Given the description of an element on the screen output the (x, y) to click on. 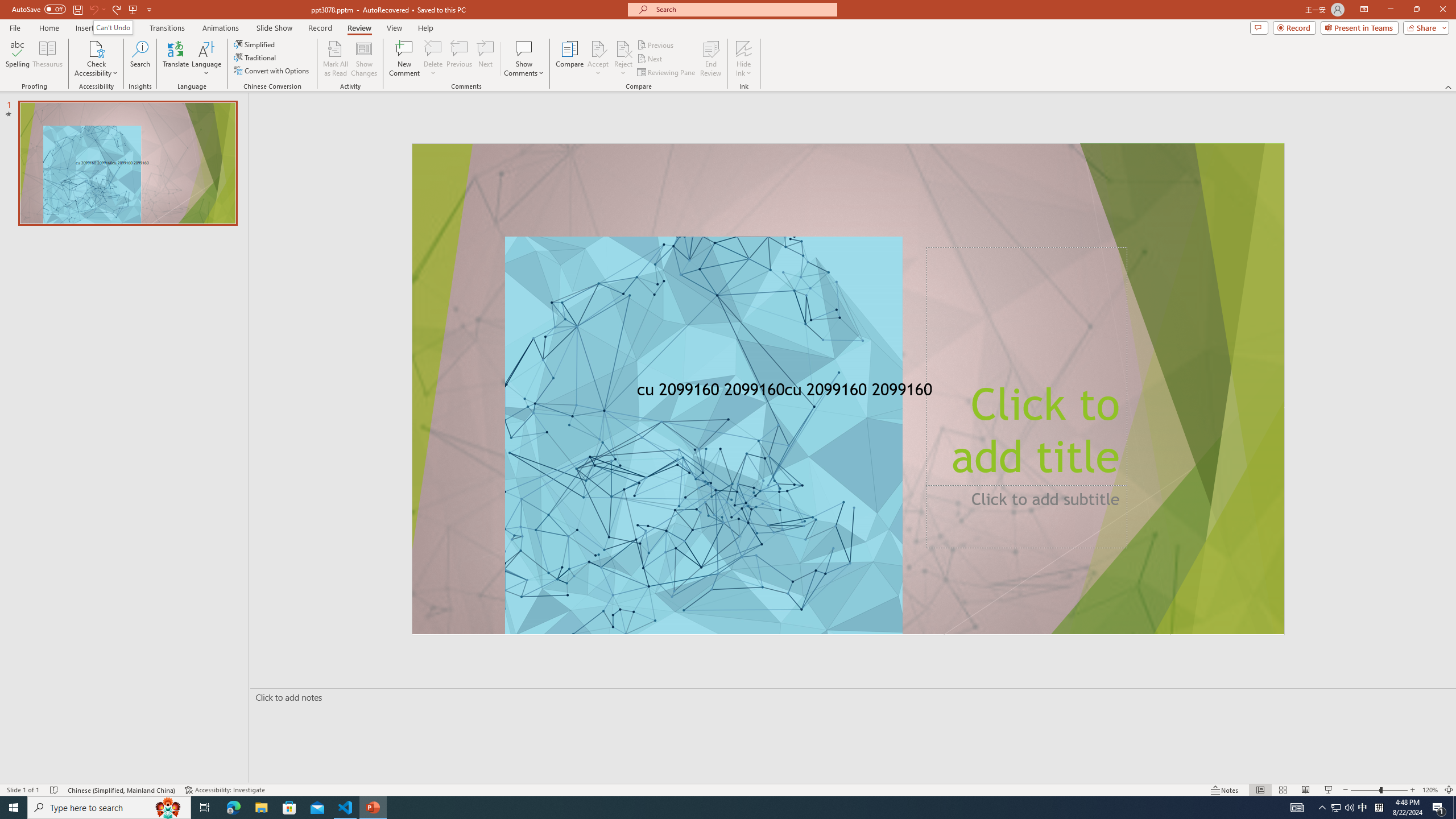
Translate (175, 58)
Reject (622, 58)
